Given the description of an element on the screen output the (x, y) to click on. 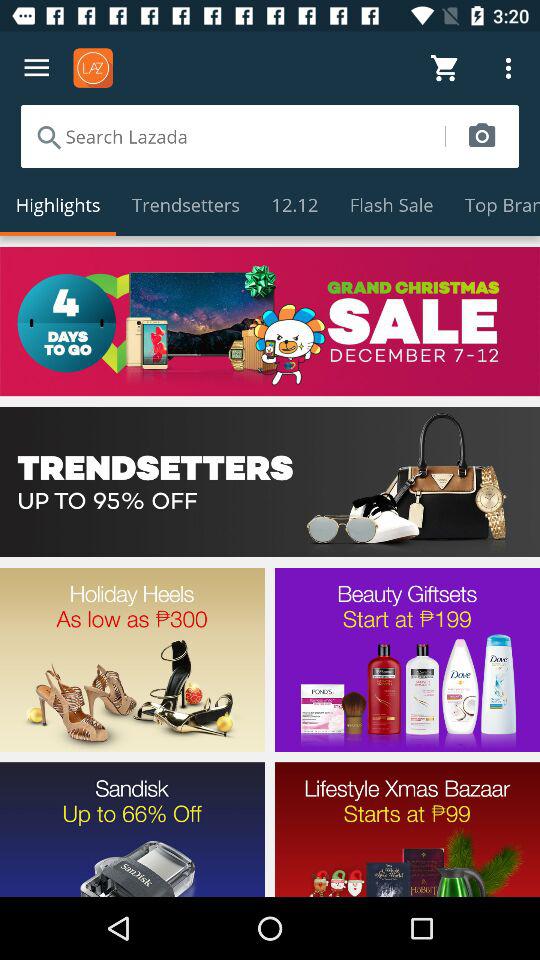
choose the icon above the top brands item (482, 136)
